Given the description of an element on the screen output the (x, y) to click on. 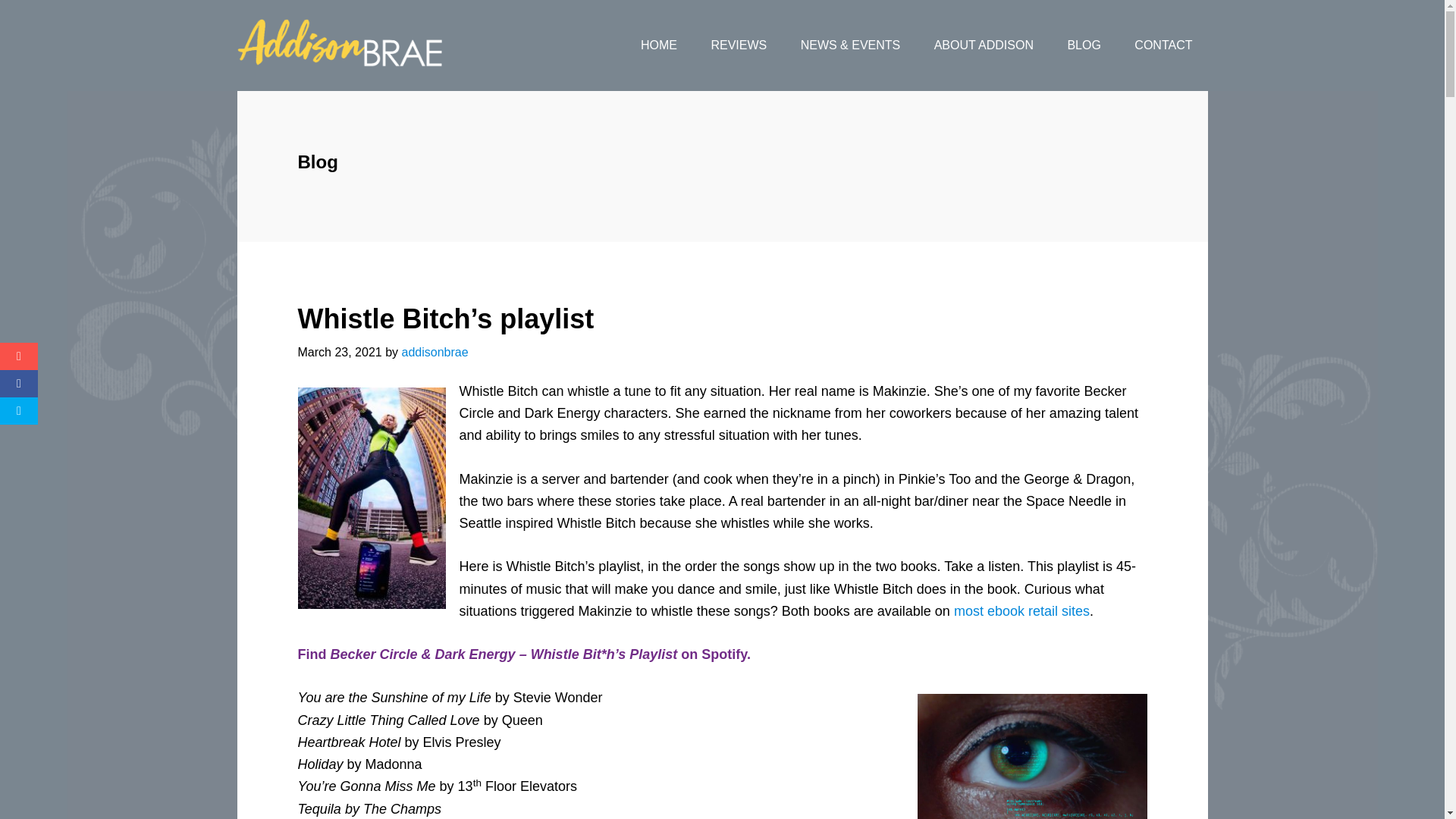
REVIEWS (738, 45)
ABOUT ADDISON (983, 45)
Addison Brae (357, 45)
CONTACT (1163, 45)
addisonbrae (434, 351)
most ebook retail sites (1021, 611)
